Given the description of an element on the screen output the (x, y) to click on. 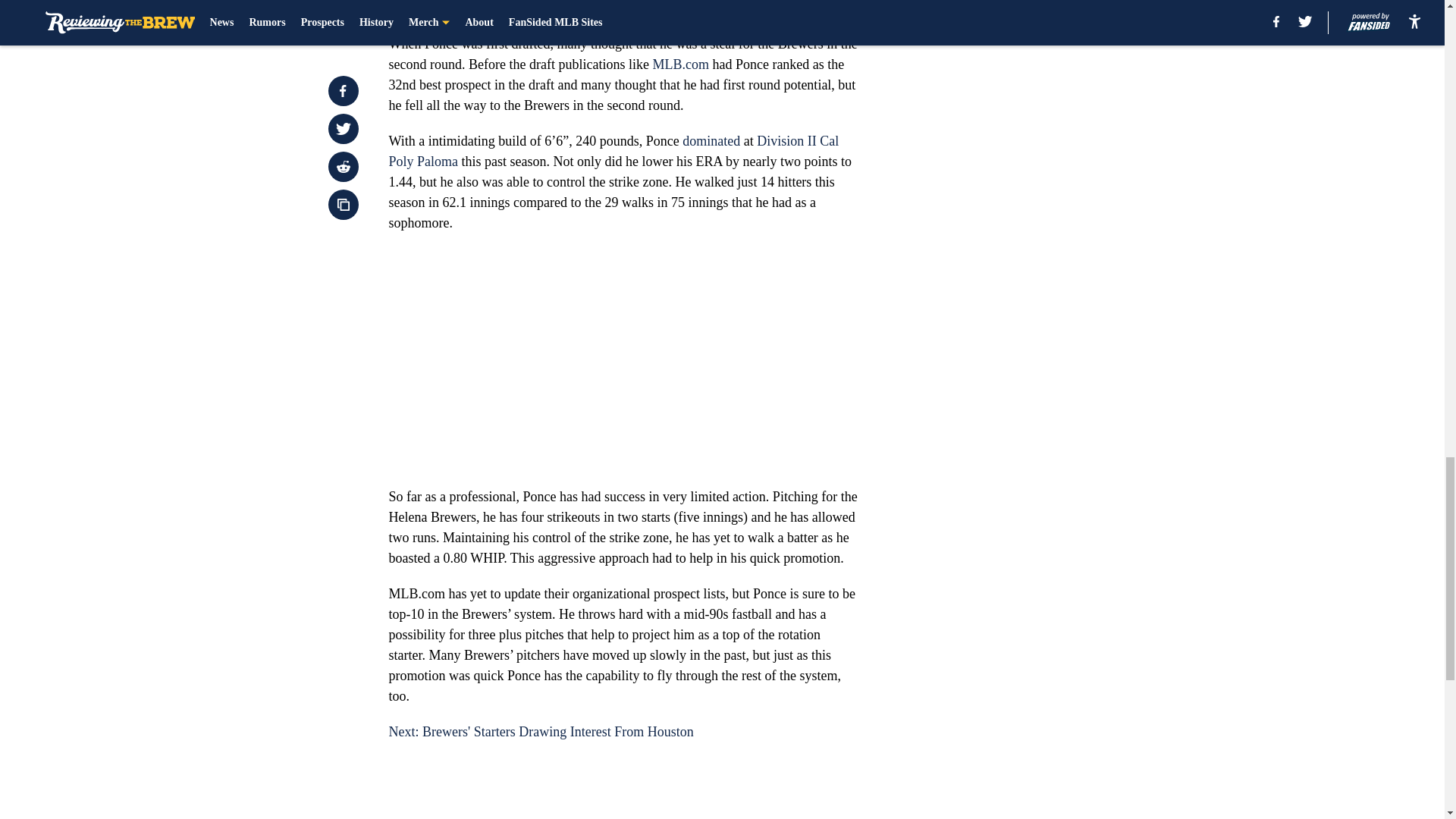
MLB.com (680, 64)
July 1, 2015 (654, 2)
dominated (710, 140)
Division II Cal Poly Paloma (613, 150)
Next: Brewers' Starters Drawing Interest From Houston (540, 731)
